Given the description of an element on the screen output the (x, y) to click on. 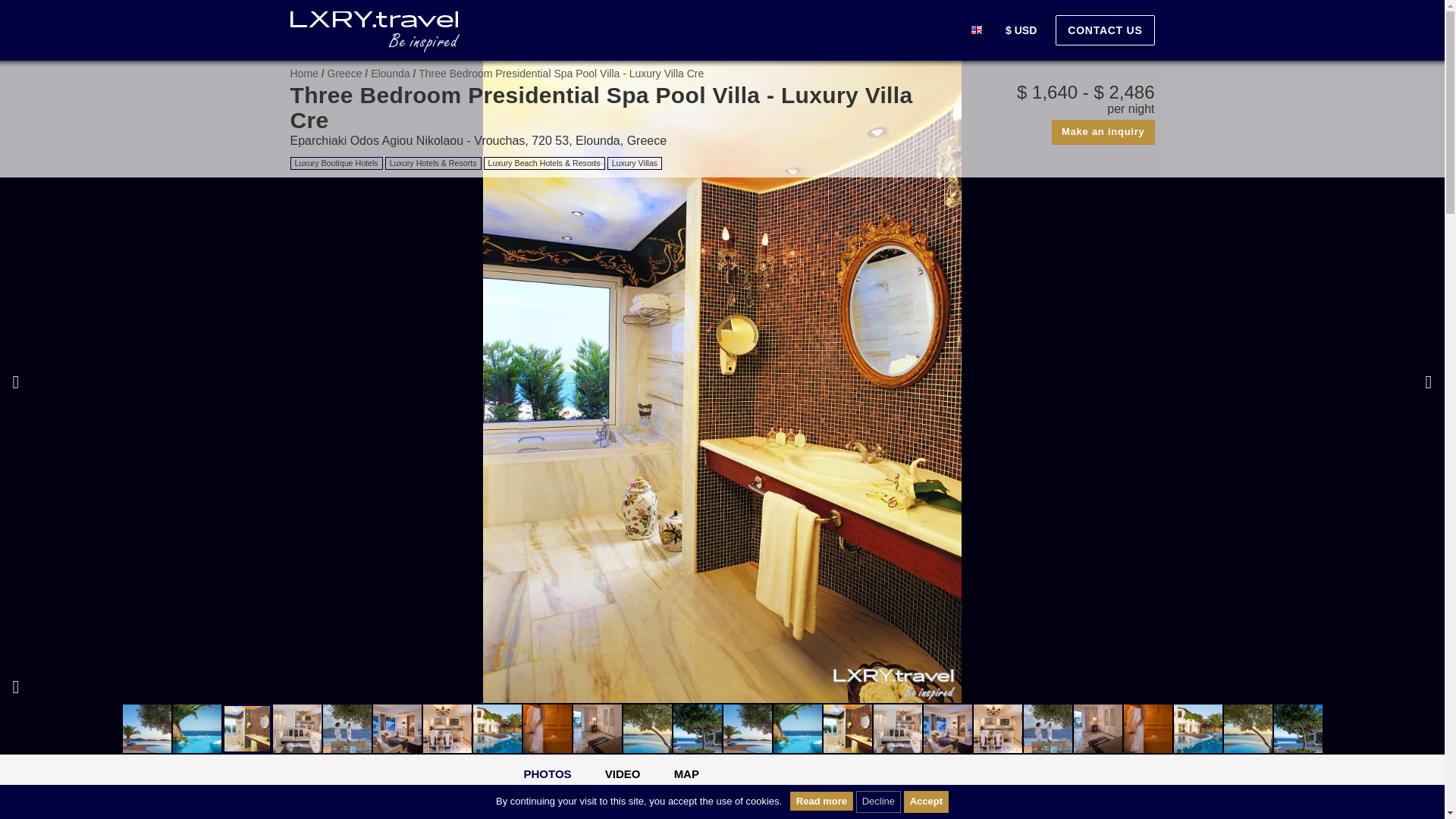
Decline (878, 802)
Read more (821, 800)
Accept (926, 802)
Luxury Villas (634, 163)
Greece (344, 73)
LXRY.travel (303, 73)
Elounda (390, 73)
Luxury Boutique Hotels (335, 163)
LXRY.travel (374, 32)
